Given the description of an element on the screen output the (x, y) to click on. 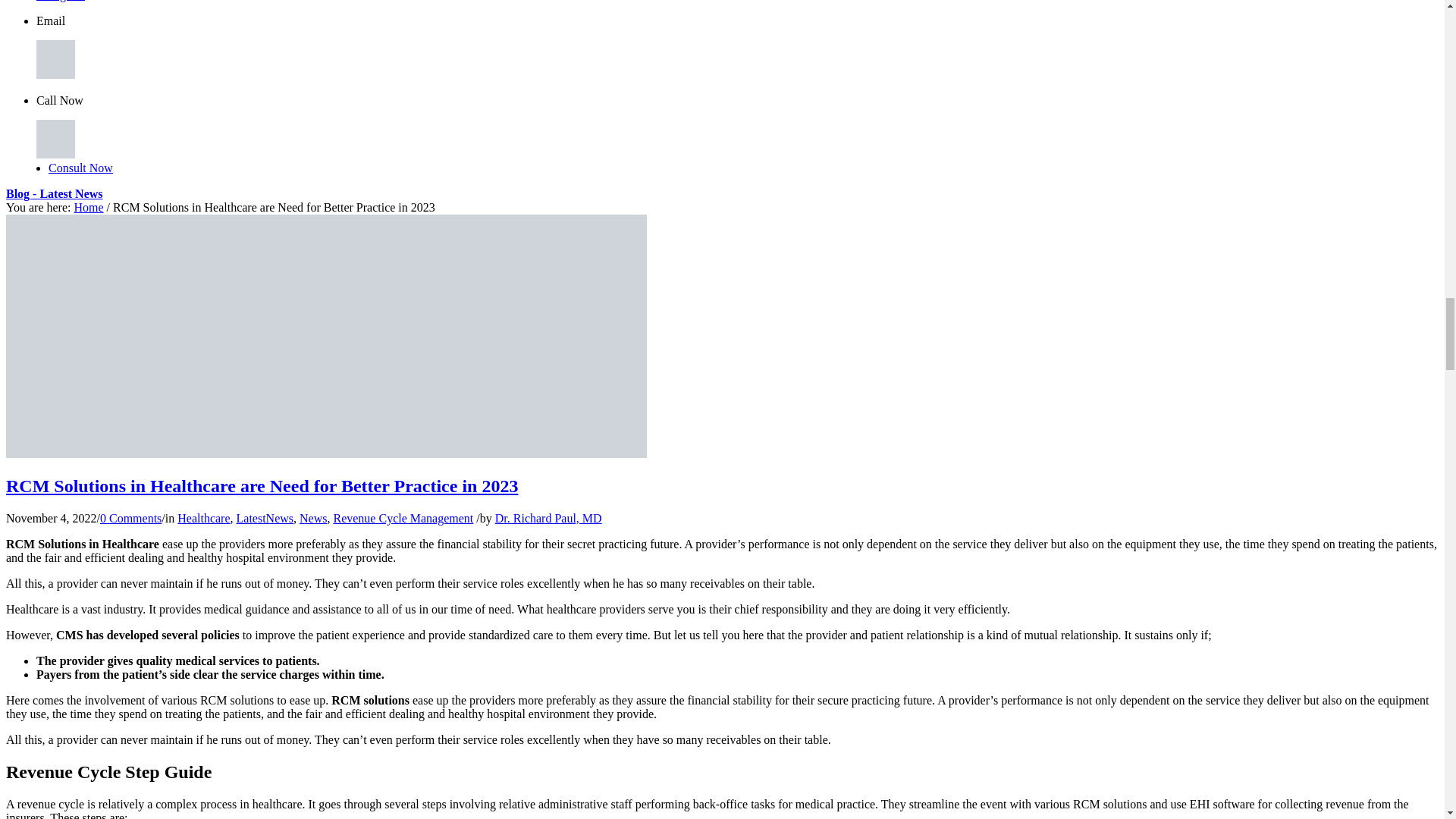
Instagram (60, 0)
Posts by Dr. Richard Paul, MD (548, 517)
Permanent Link: Blog - Latest News (54, 193)
